Given the description of an element on the screen output the (x, y) to click on. 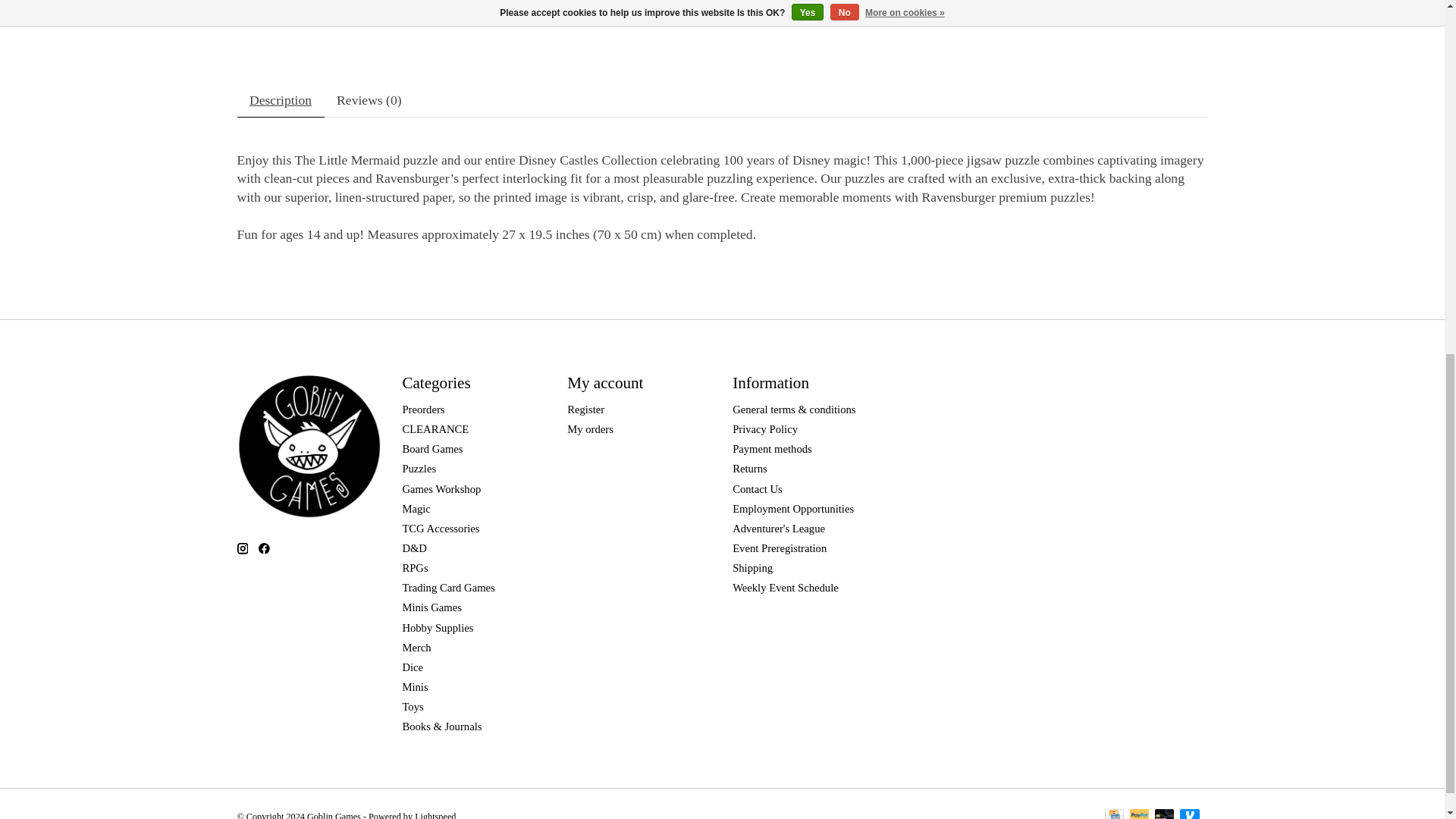
Event Preregistration (779, 548)
My orders (589, 428)
Contact Us (757, 489)
Payment methods (772, 449)
Employment Opportunities (792, 508)
Returns (749, 468)
Adventurer's League (778, 528)
Privacy Policy (764, 428)
Register (585, 409)
Shipping (752, 567)
